Given the description of an element on the screen output the (x, y) to click on. 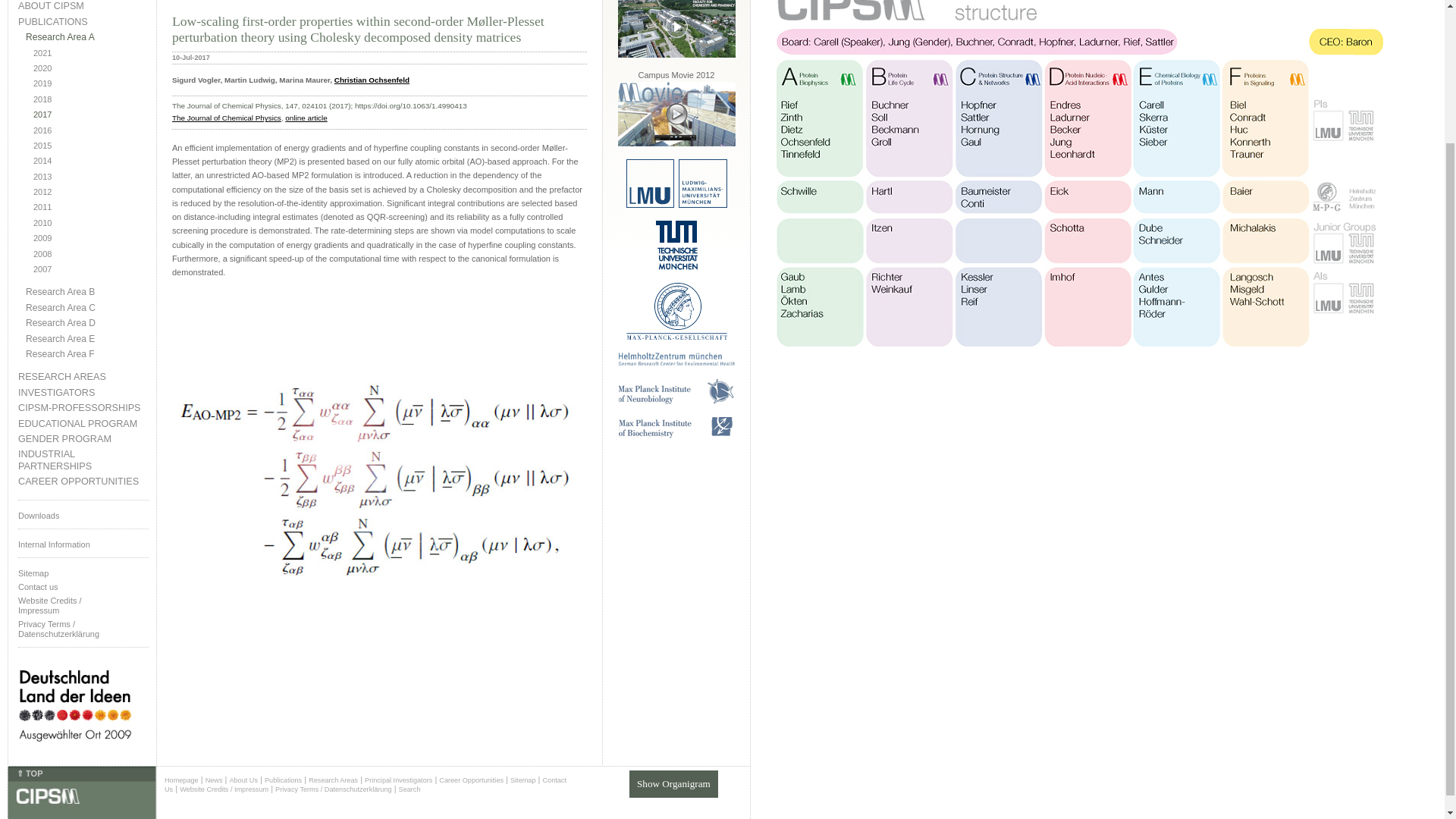
CIPSM-PROFESSORSHIPS (82, 408)
Downloads (82, 515)
GENDER PROGRAM (82, 439)
Deutschland Land der Ideen (74, 753)
2008 (90, 254)
ABOUT CIPSM (82, 6)
Homepage (181, 779)
Research Area E (87, 338)
Sitemap (523, 779)
2016 (90, 130)
2014 (90, 161)
Research Areas (333, 779)
INDUSTRIAL PARTNERSHIPS (82, 460)
2007 (90, 269)
News (213, 779)
